Given the description of an element on the screen output the (x, y) to click on. 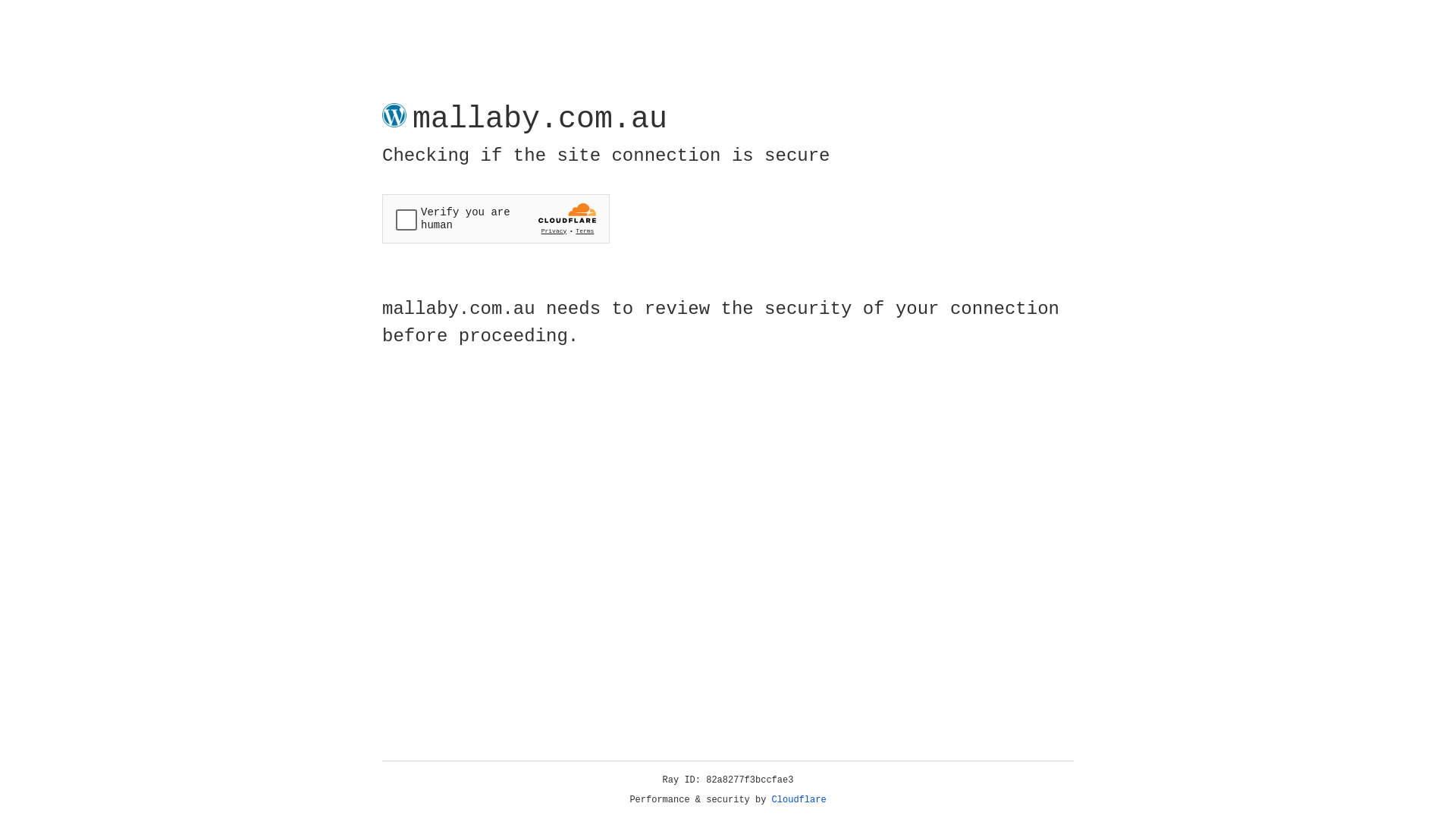
Cloudflare Element type: text (798, 799)
Widget containing a Cloudflare security challenge Element type: hover (495, 218)
